Given the description of an element on the screen output the (x, y) to click on. 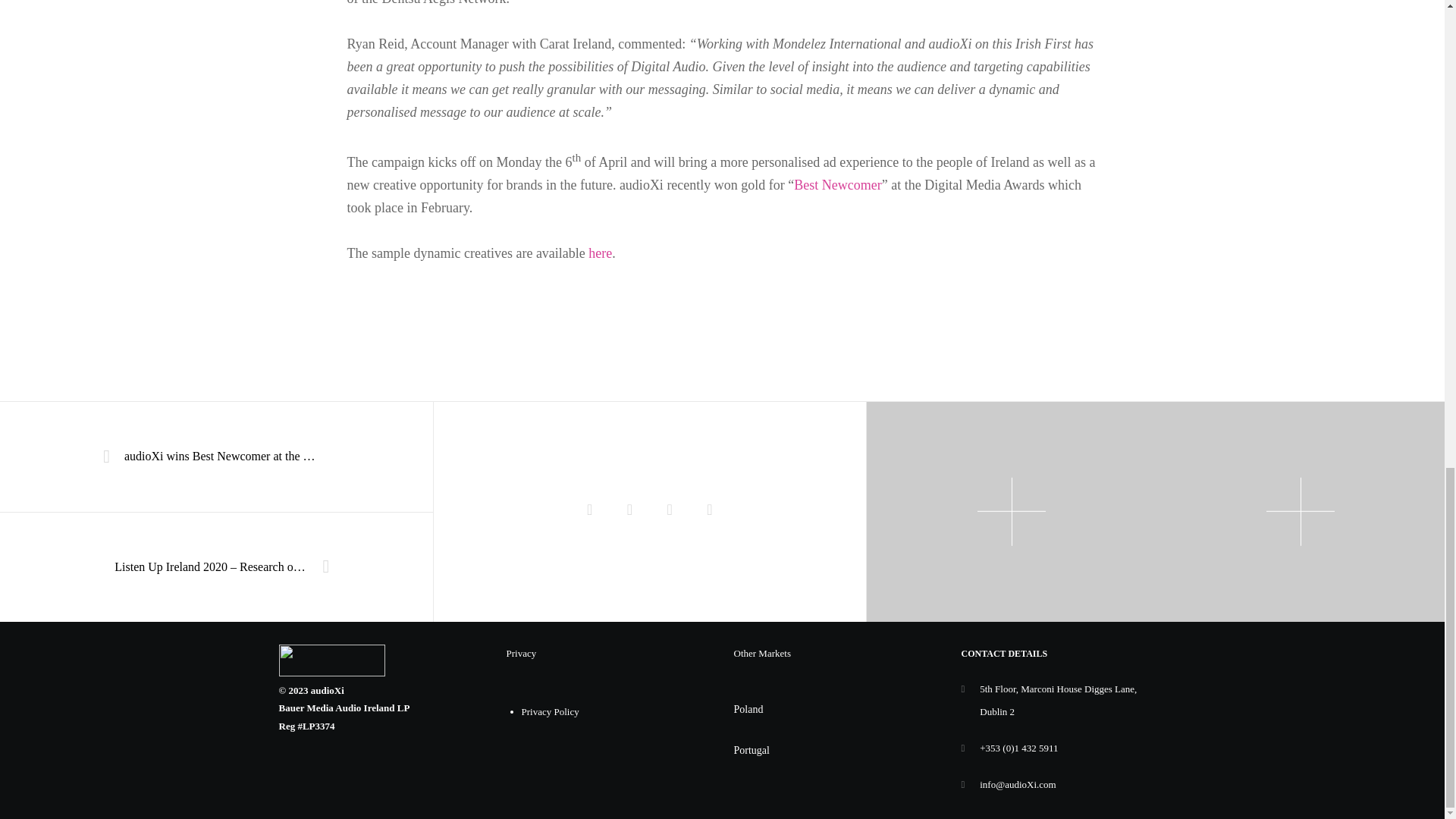
Poland (747, 708)
Cadbury Snack collaborates with audioXi on Irish Media First (668, 511)
Privacy Policy (550, 711)
audioXi wins Best Newcomer at the 2020 Digital Media Awards (216, 456)
here (599, 253)
Best Newcomer (836, 184)
Cadbury Snack collaborates with audioXi on Irish Media First (589, 511)
Portugal (751, 749)
Cadbury Snack collaborates with audioXi on Irish Media First (709, 511)
Cadbury Snack collaborates with audioXi on Irish Media First (629, 511)
